Given the description of an element on the screen output the (x, y) to click on. 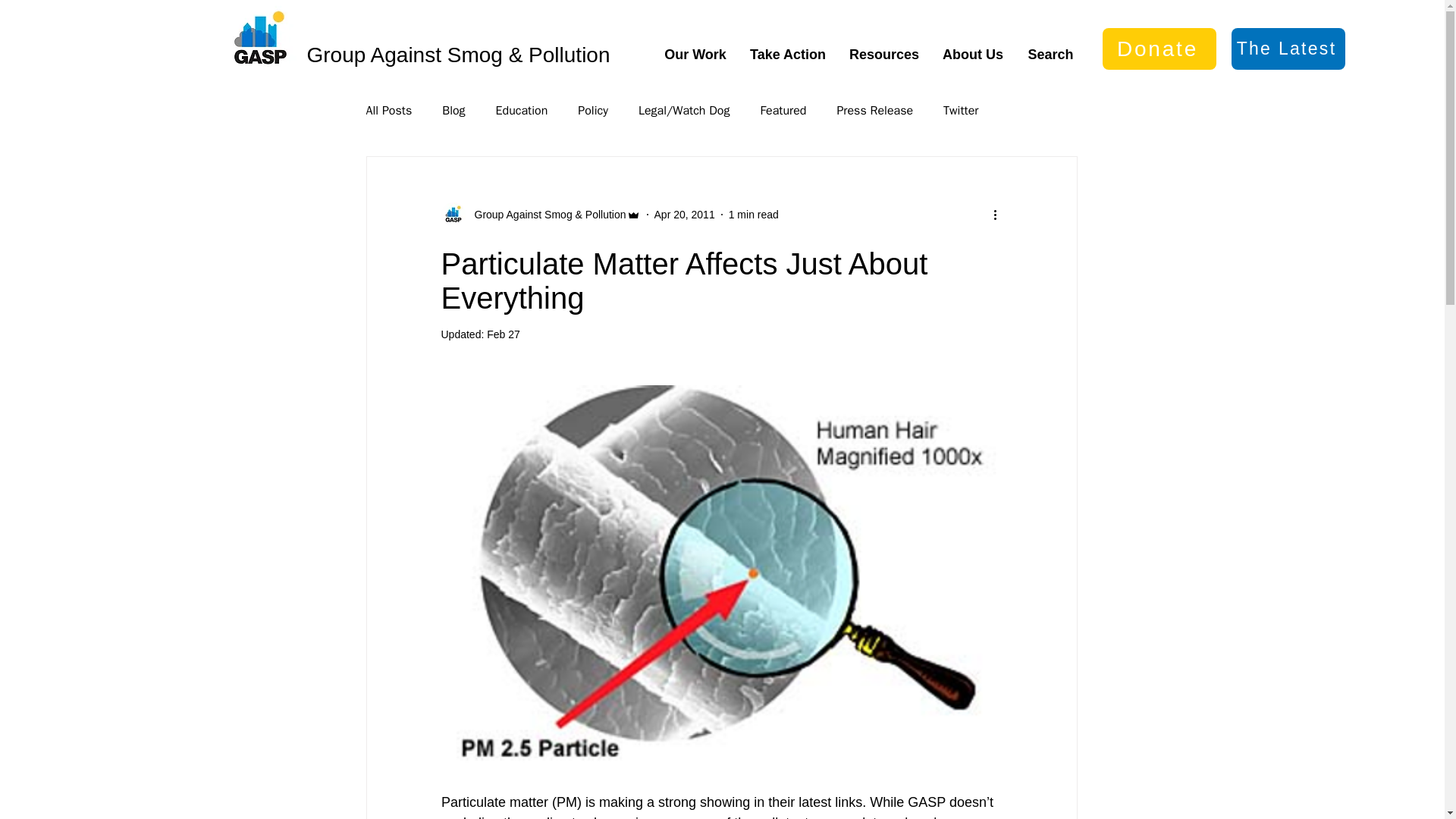
Education (522, 110)
Press Release (873, 110)
Blog (453, 110)
Donate (1158, 48)
Apr 20, 2011 (683, 214)
Featured (783, 110)
Twitter (960, 110)
Policy (593, 110)
Resources (883, 54)
About Us (972, 54)
Feb 27 (502, 334)
Search (1050, 54)
1 min read (753, 214)
The Latest (1288, 48)
All Posts (388, 110)
